Given the description of an element on the screen output the (x, y) to click on. 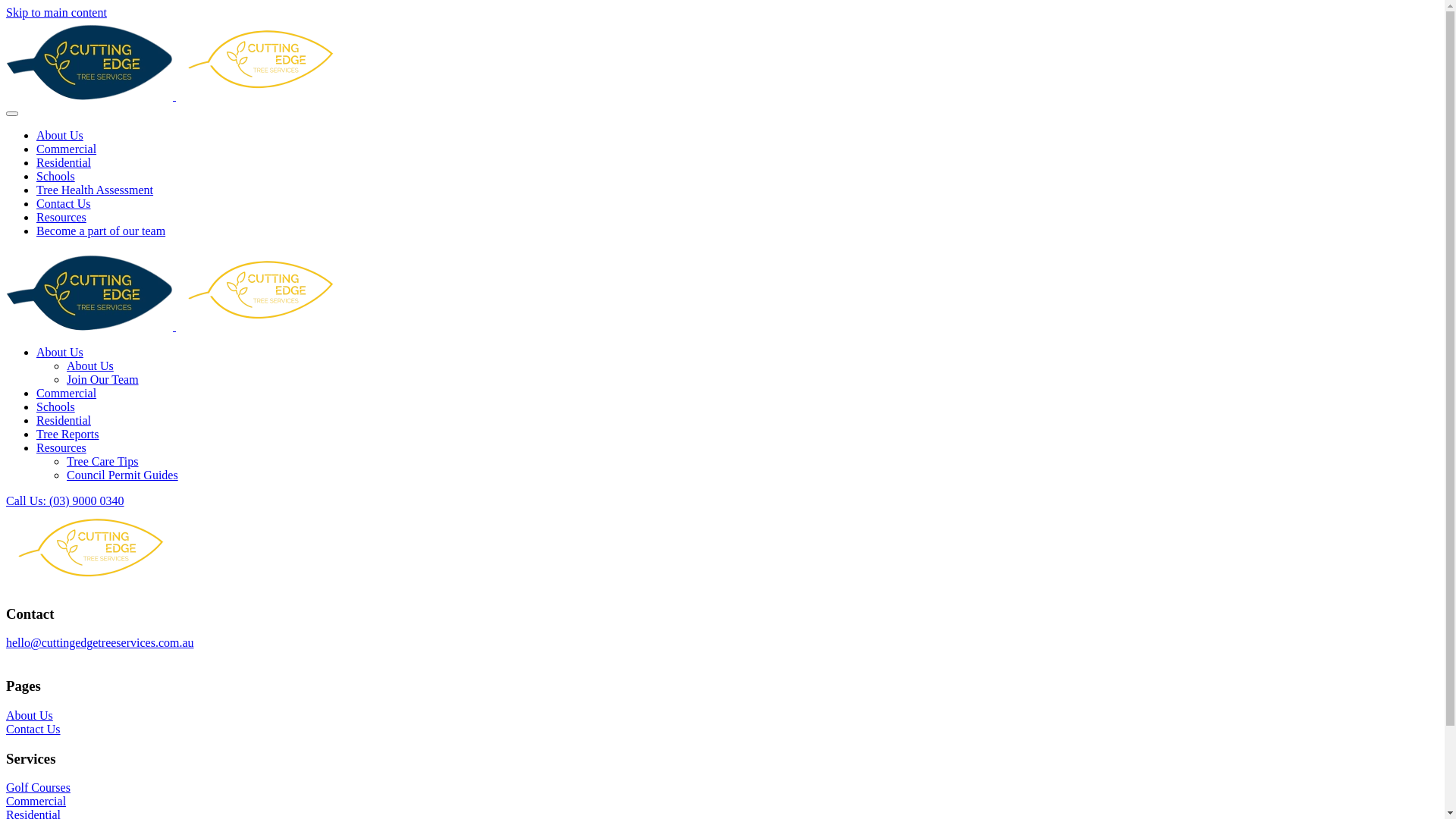
Call Us: (03) 9000 0340 Element type: text (65, 500)
Schools Element type: text (55, 175)
About Us Element type: text (89, 365)
Commercial Element type: text (66, 392)
About Us Element type: text (59, 351)
Tree Health Assessment Element type: text (94, 189)
Tree Reports Element type: text (67, 433)
hello@cuttingedgetreeservices.com.au Element type: text (100, 642)
Contact Us Element type: text (63, 203)
Schools Element type: text (55, 406)
Tree Care Tips Element type: text (102, 461)
Council Permit Guides Element type: text (122, 474)
Contact Us Element type: text (33, 728)
Join Our Team Element type: text (102, 379)
About Us Element type: text (59, 134)
Residential Element type: text (63, 420)
Resources Element type: text (61, 216)
Golf Courses Element type: text (38, 787)
Become a part of our team Element type: text (100, 230)
Commercial Element type: text (66, 148)
Residential Element type: text (63, 162)
Resources Element type: text (61, 447)
About Us Element type: text (29, 715)
Commercial Element type: text (35, 800)
Skip to main content Element type: text (56, 12)
(03) 9000 0340 Element type: text (43, 655)
